Given the description of an element on the screen output the (x, y) to click on. 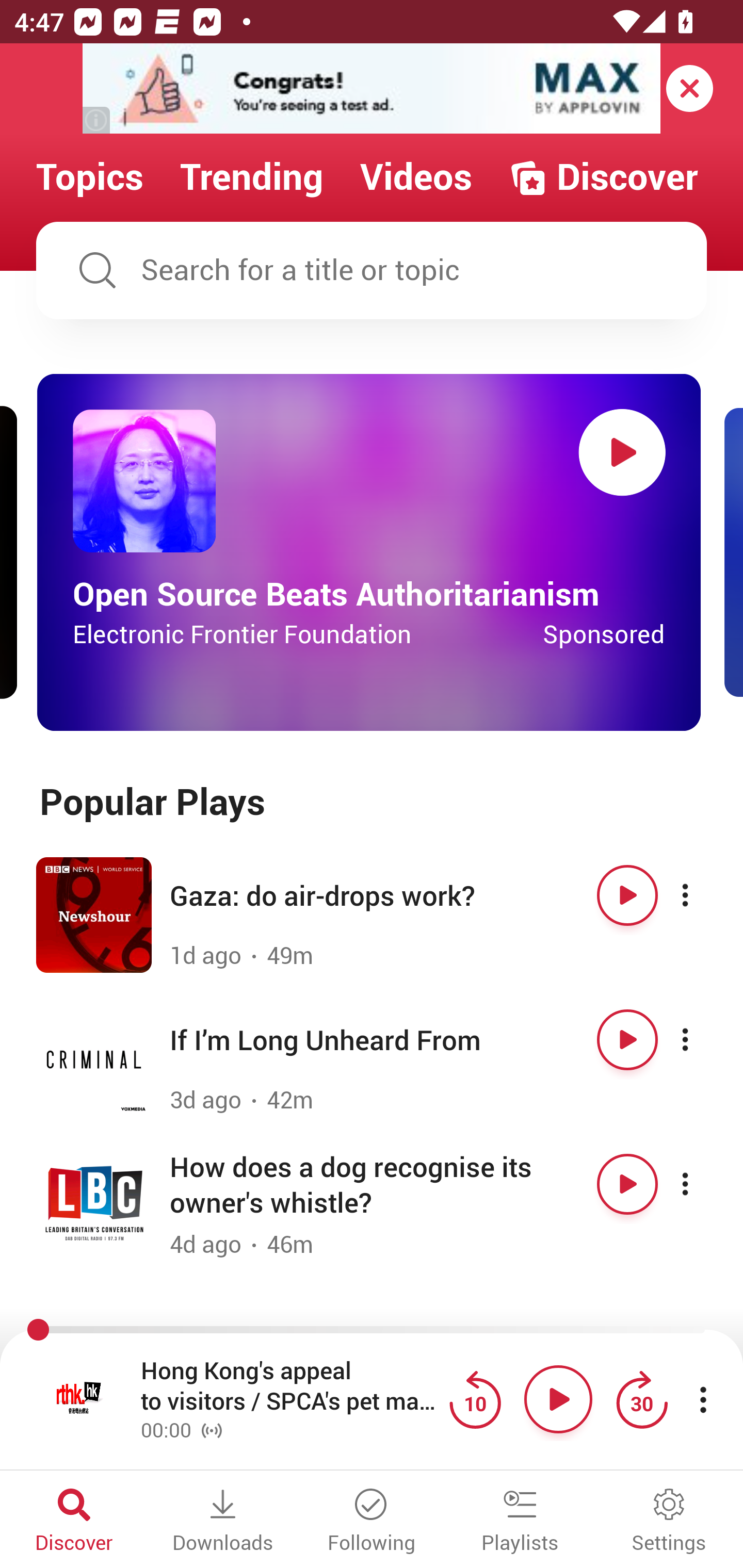
app-monetization (371, 88)
(i) (96, 119)
Topics (90, 177)
Trending (251, 177)
Videos (415, 177)
Discover (603, 177)
Search for a title or topic (371, 270)
Play button (621, 452)
Play button (627, 895)
More options (703, 895)
Play button (627, 1039)
More options (703, 1039)
Play button (627, 1184)
More options (703, 1184)
Recommended for You (371, 1331)
Open fullscreen player (79, 1399)
More player controls (703, 1399)
Play button (558, 1398)
Jump back (475, 1399)
Jump forward (641, 1399)
Discover (74, 1521)
Downloads (222, 1521)
Following (371, 1521)
Playlists (519, 1521)
Settings (668, 1521)
